Given the description of an element on the screen output the (x, y) to click on. 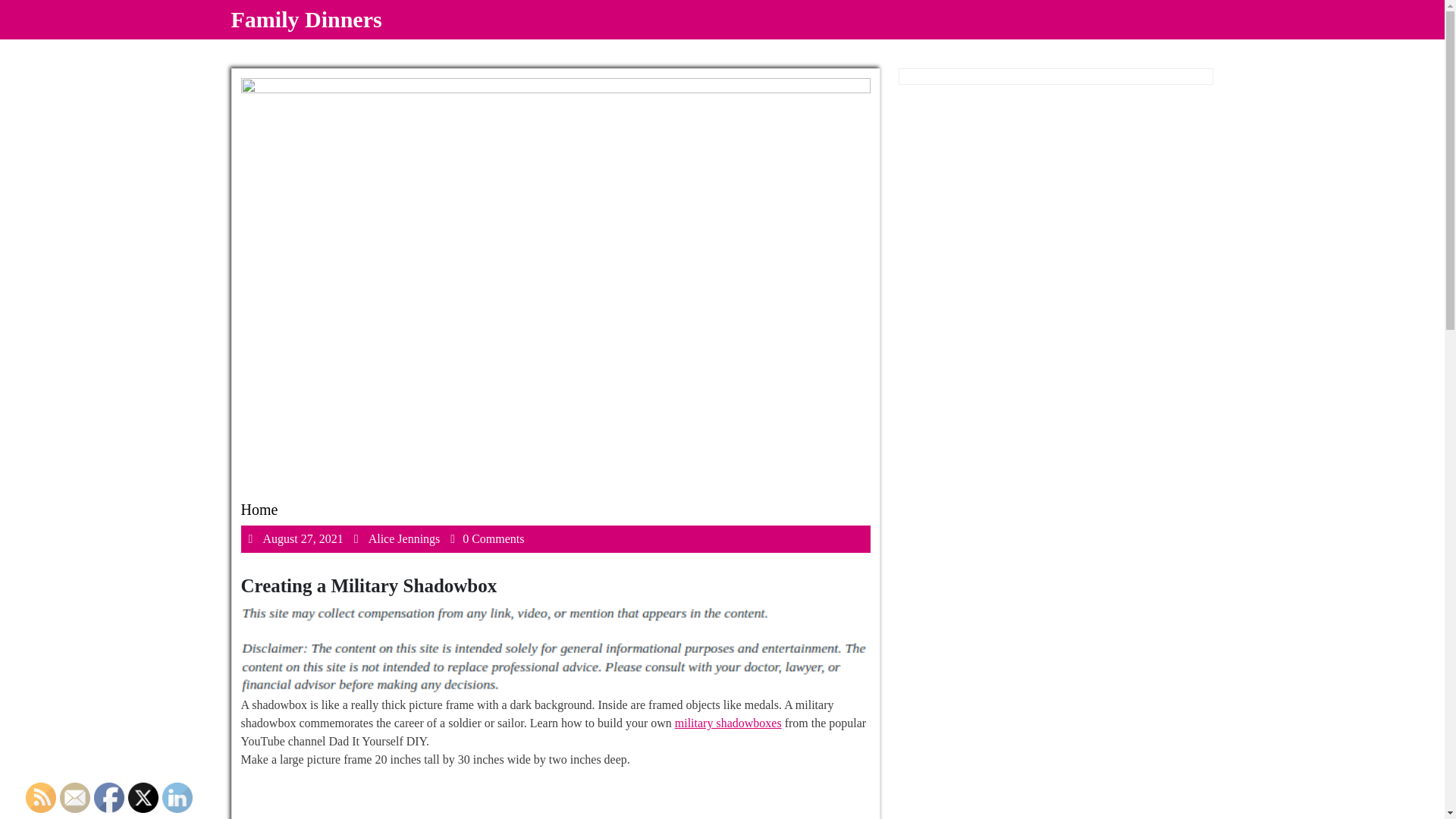
military shadowboxes (404, 538)
Twitter (302, 538)
LinkedIn (728, 722)
Family Dinners (143, 797)
RSS (176, 797)
Follow by Email (305, 18)
Facebook (41, 797)
Home (74, 797)
